Given the description of an element on the screen output the (x, y) to click on. 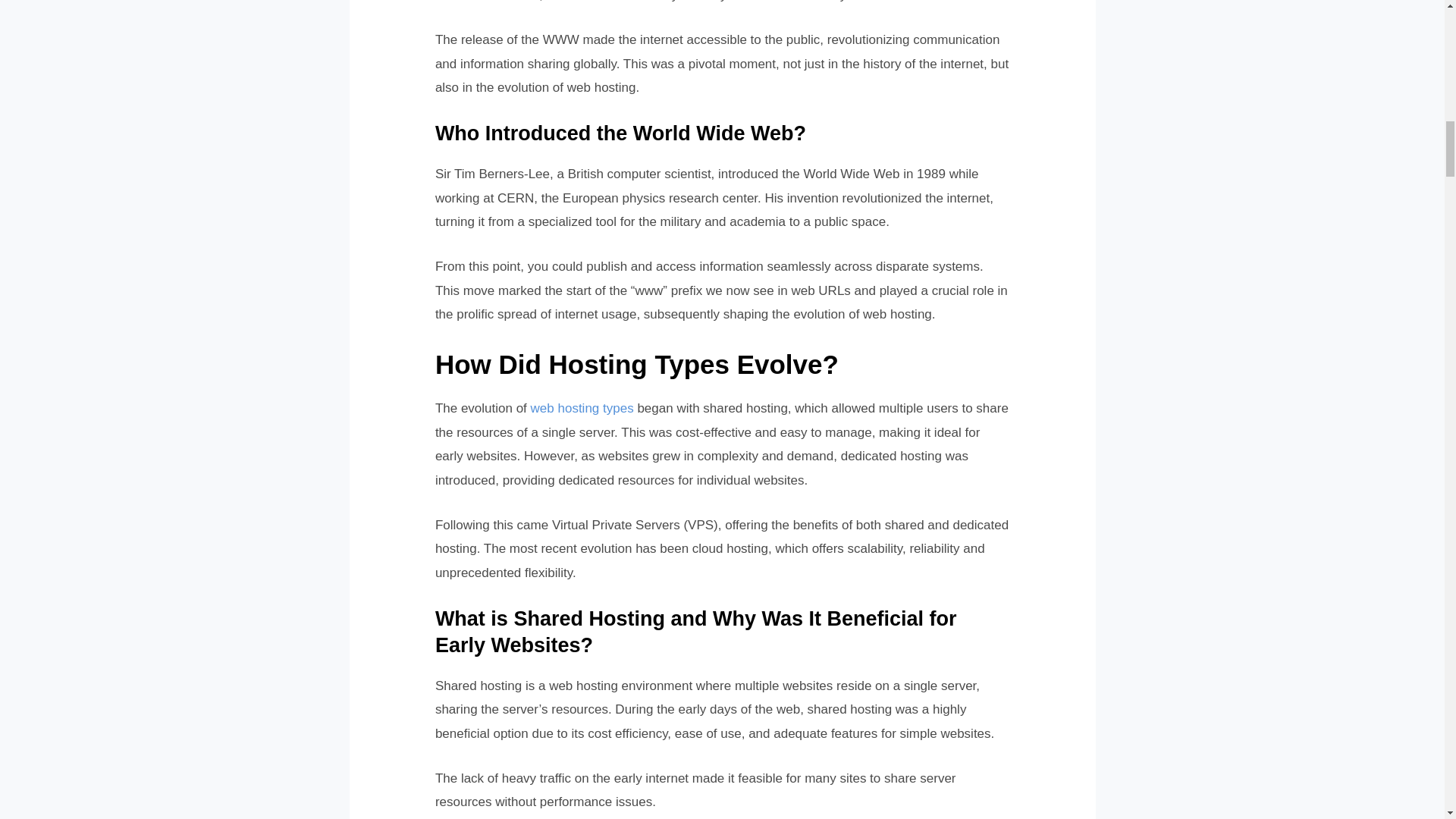
web hosting types (582, 408)
